Given the description of an element on the screen output the (x, y) to click on. 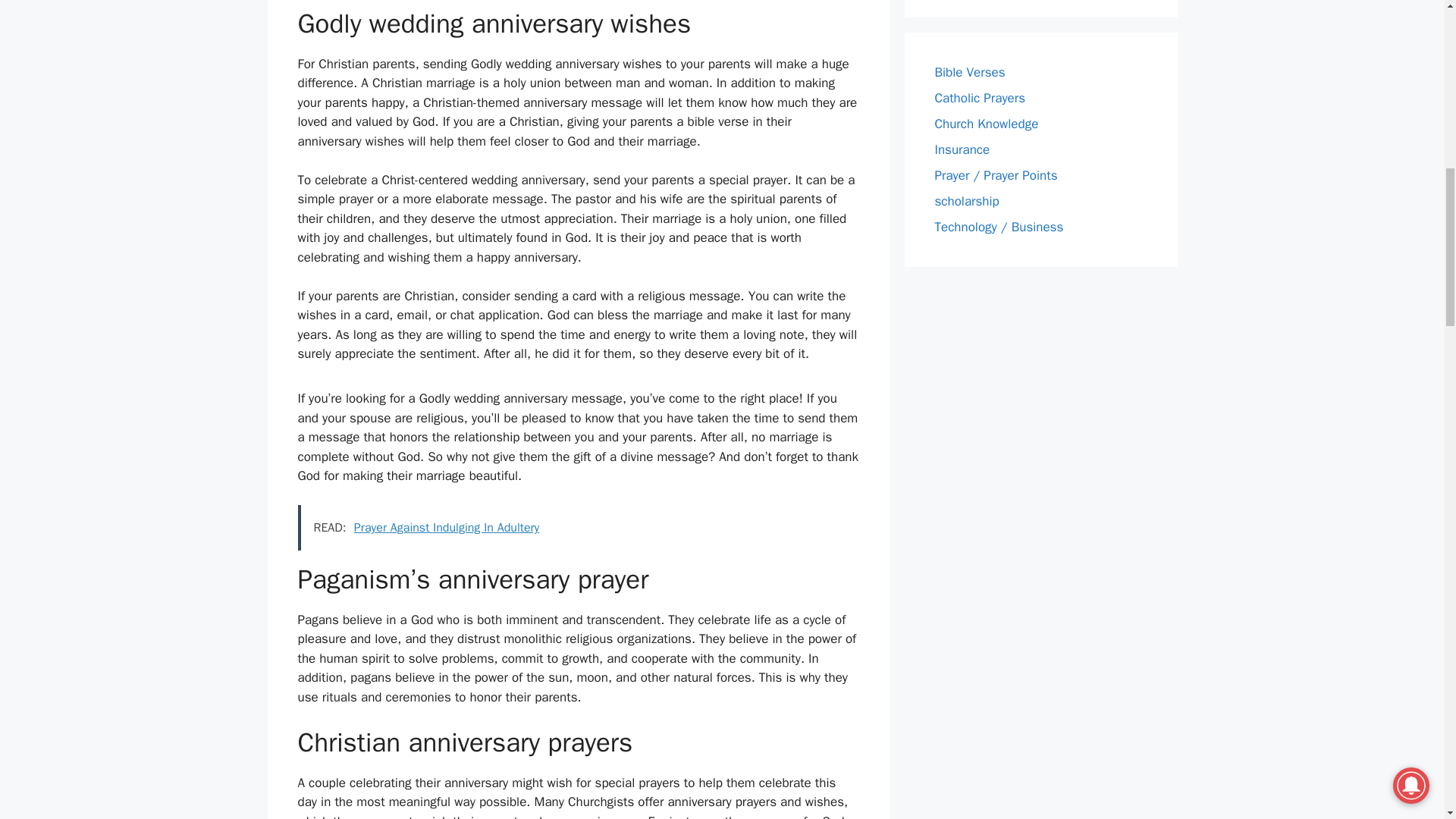
Catholic Prayers (979, 98)
Bible Verses (969, 72)
READ:  Prayer Against Indulging In Adultery (578, 527)
Church Knowledge (986, 123)
scholarship (966, 201)
Insurance (962, 149)
